Given the description of an element on the screen output the (x, y) to click on. 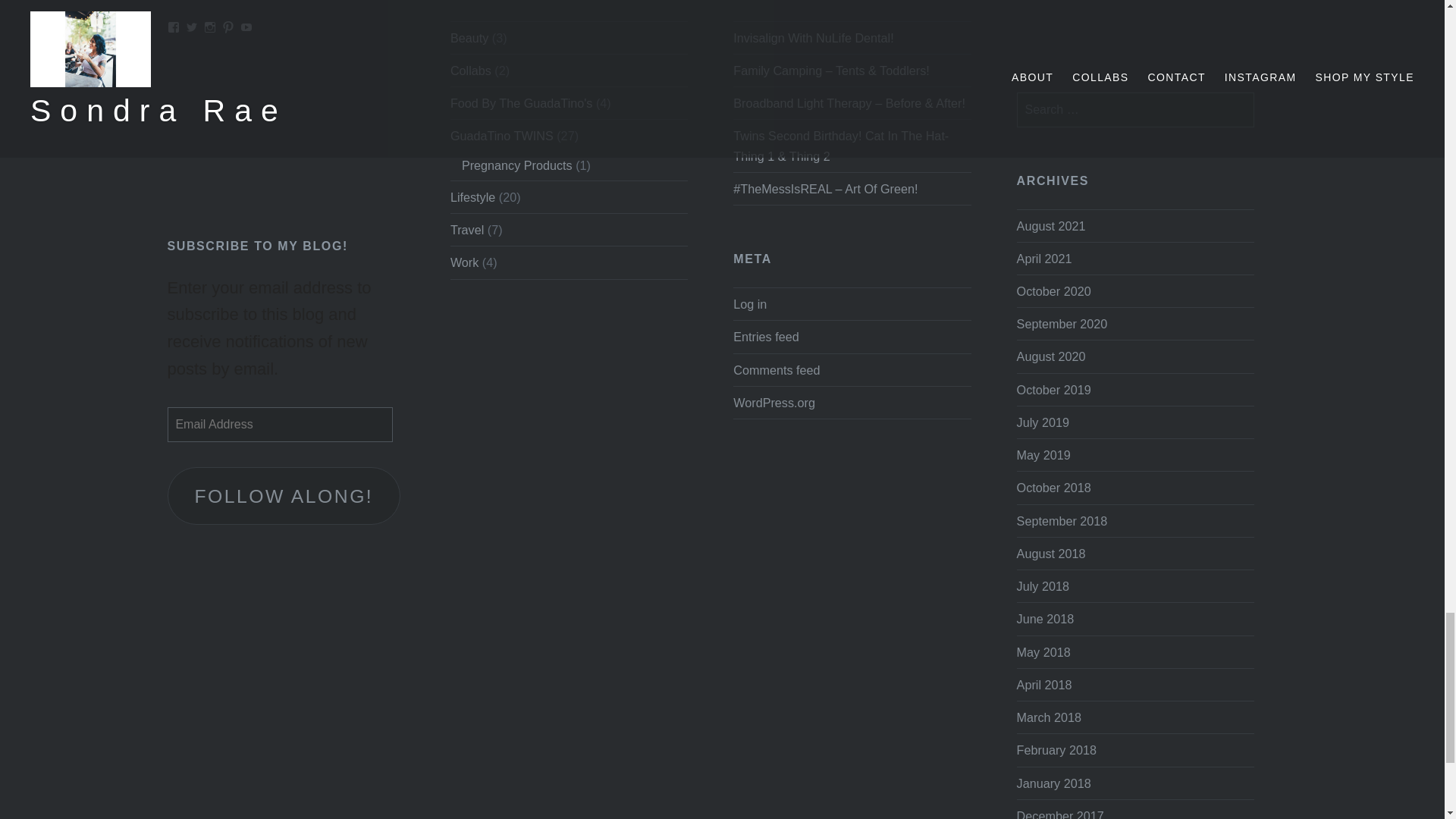
Facebook (173, 27)
Instagram (209, 27)
Beauty (468, 38)
YouTube (245, 27)
Pinterest (228, 27)
Twitter (192, 27)
